Given the description of an element on the screen output the (x, y) to click on. 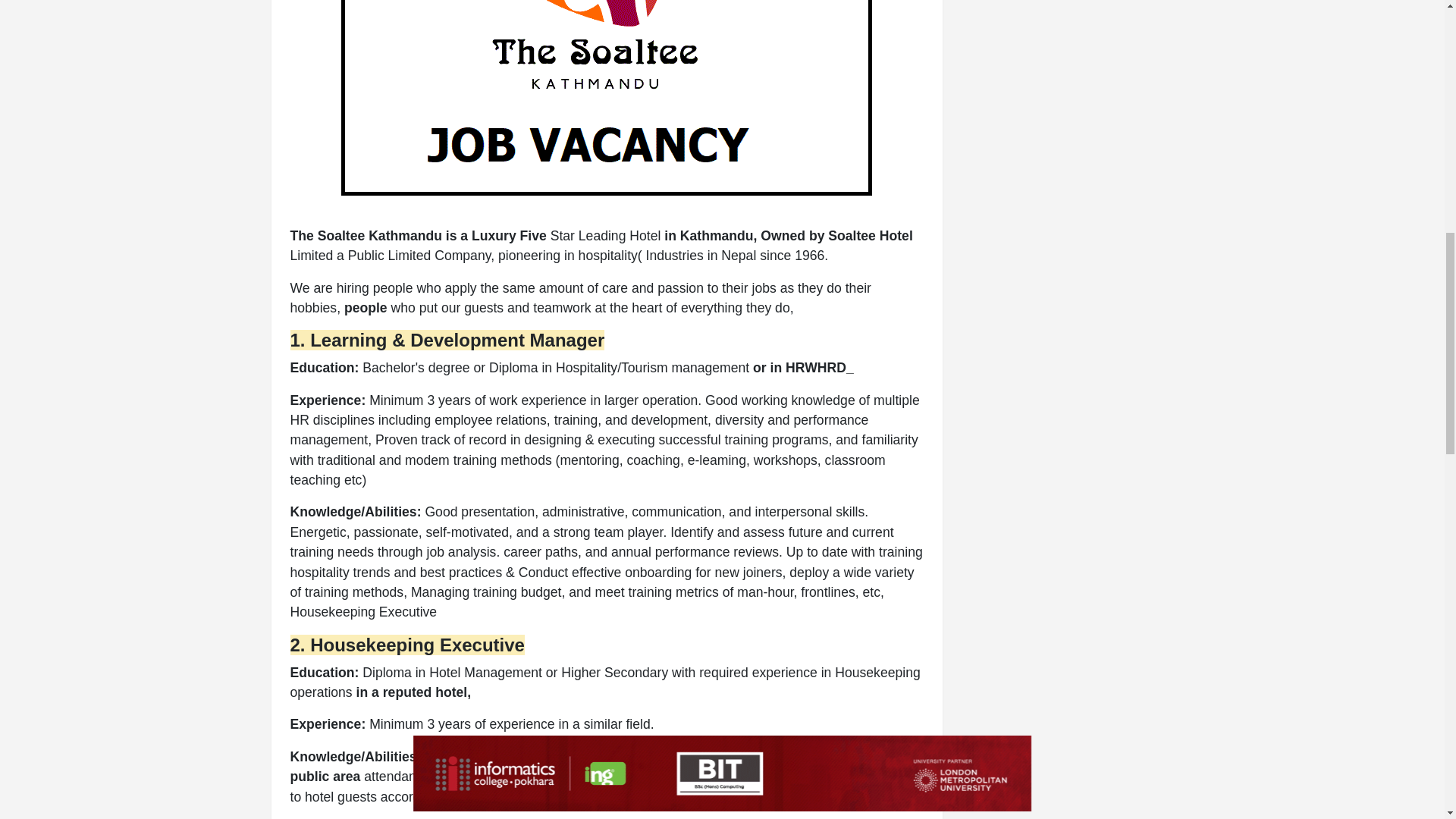
The Soaltee Kathmandu Vacancy (606, 97)
